Given the description of an element on the screen output the (x, y) to click on. 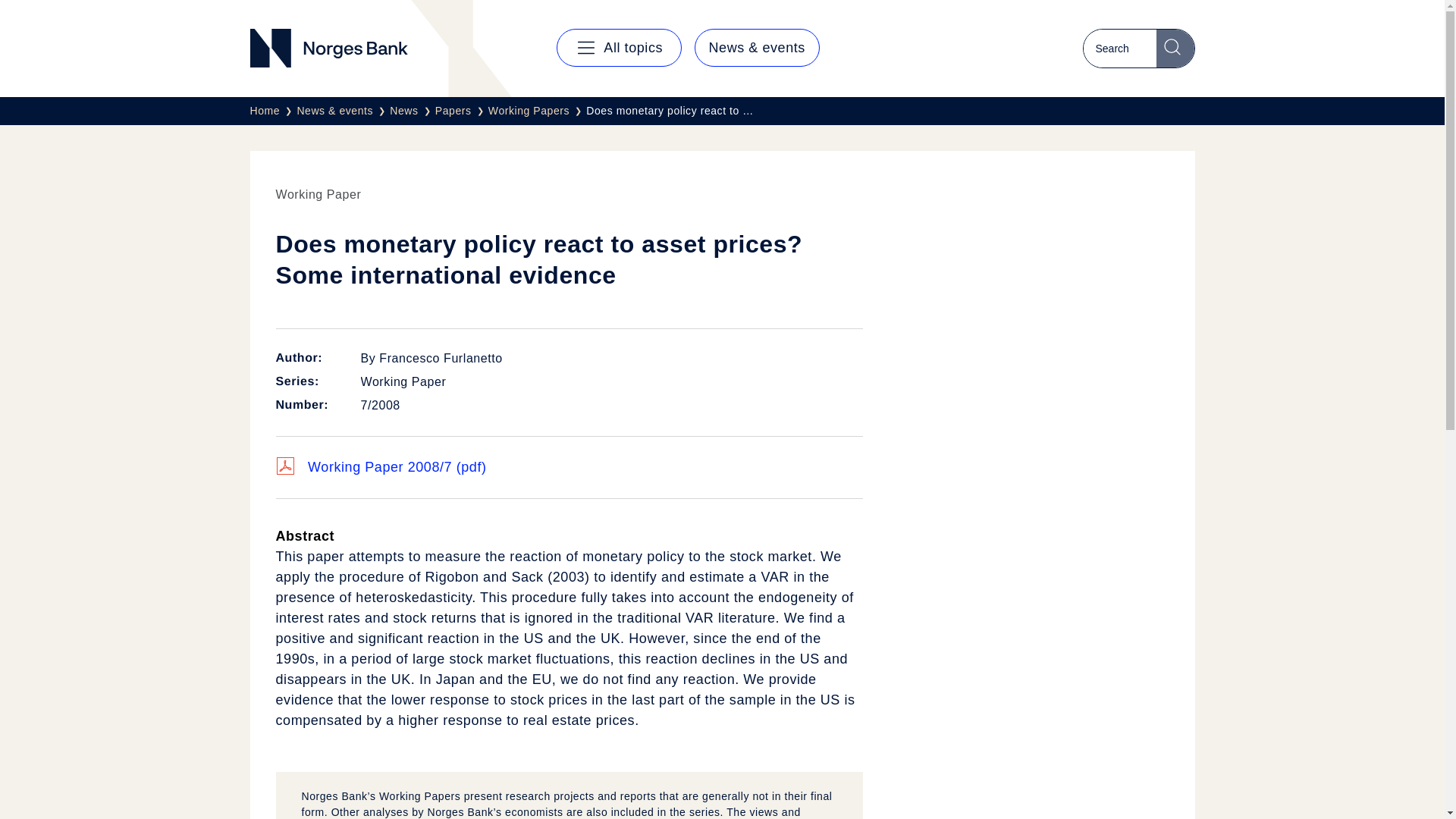
News (412, 110)
Papers (461, 110)
Working Papers (536, 110)
Working Papers (536, 110)
Home (273, 110)
News (412, 110)
Papers (461, 110)
All topics (618, 47)
Search (1174, 48)
Home (273, 110)
